Given the description of an element on the screen output the (x, y) to click on. 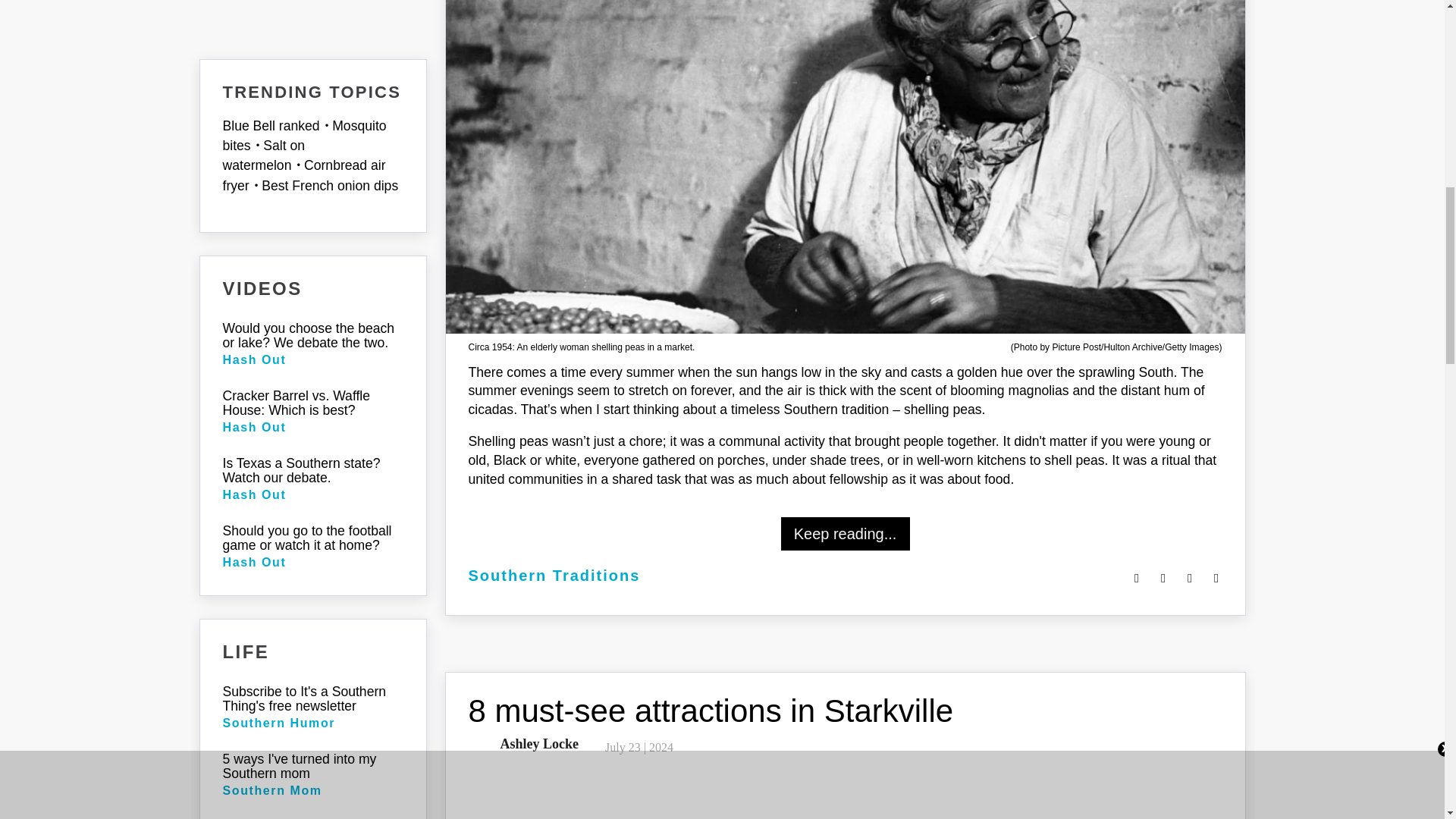
3rd party ad content (312, 18)
